Given the description of an element on the screen output the (x, y) to click on. 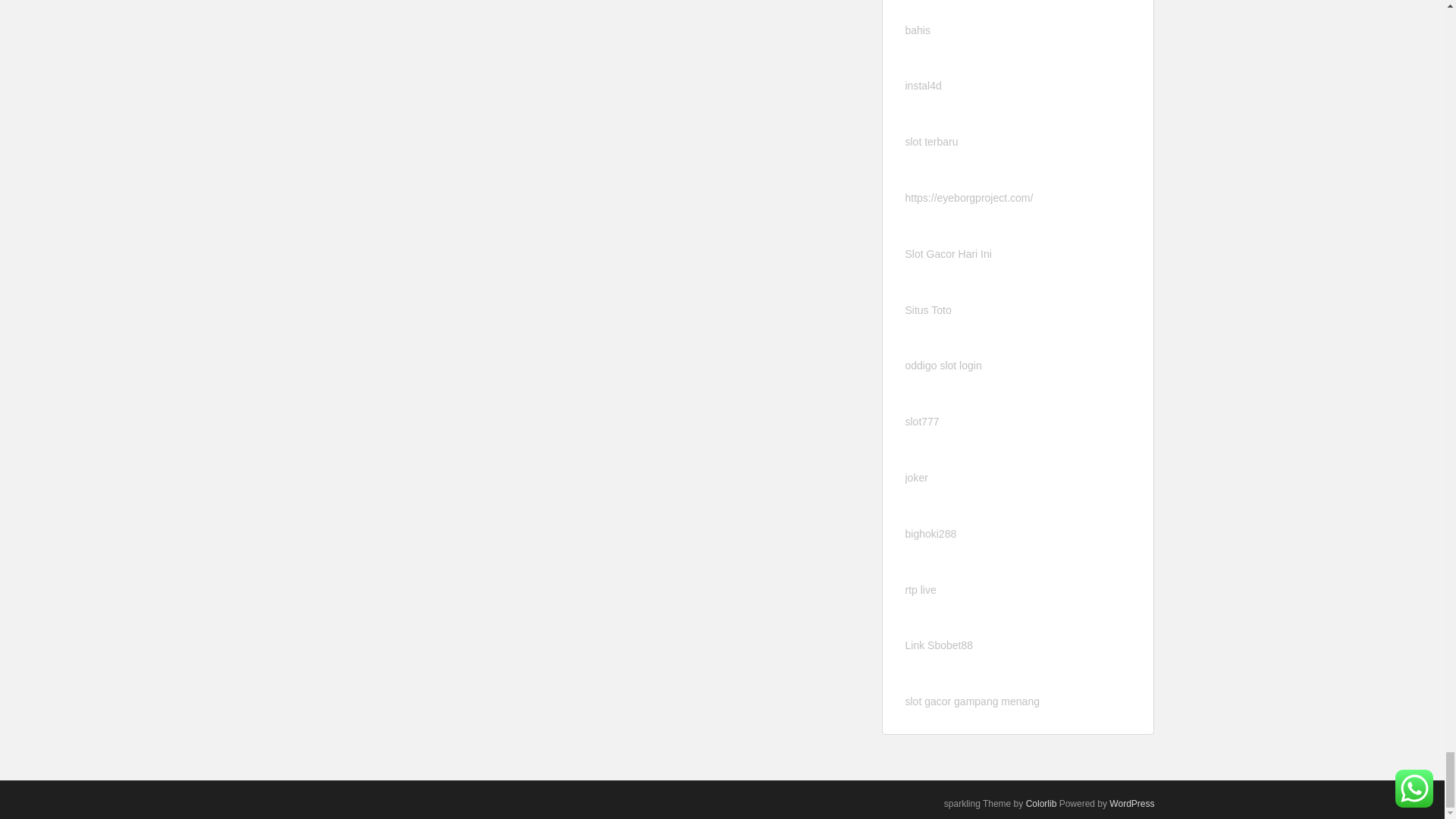
bahis (917, 30)
